Given the description of an element on the screen output the (x, y) to click on. 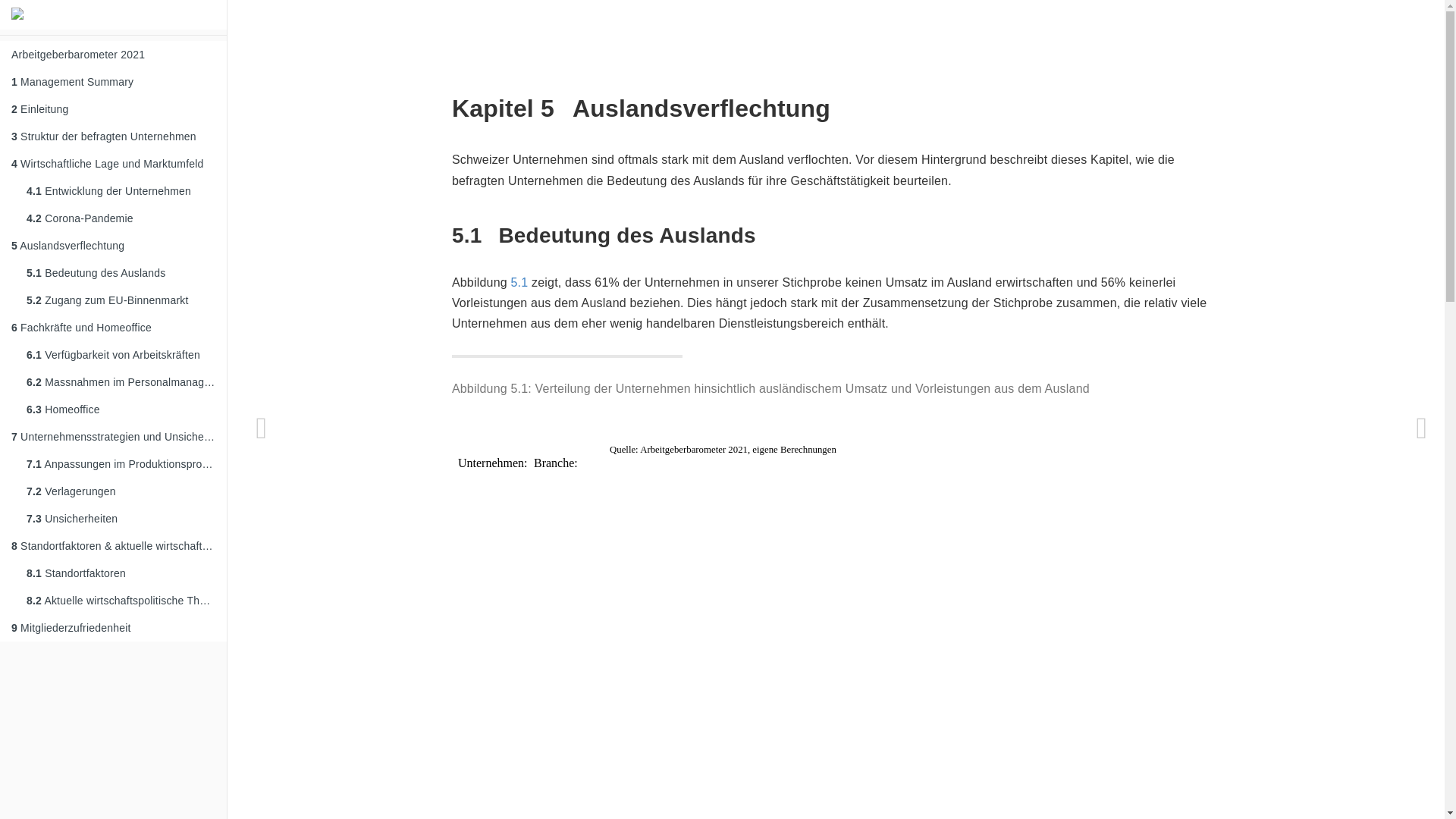
5.1 Element type: text (519, 282)
8.2 Aktuelle wirtschaftspolitische Themen Element type: text (120, 600)
1 Management Summary Element type: text (113, 81)
5.2 Zugang zum EU-Binnenmarkt Element type: text (120, 299)
4.2 Corona-Pandemie Element type: text (120, 218)
8.1 Standortfaktoren Element type: text (120, 572)
7.3 Unsicherheiten Element type: text (120, 518)
4.1 Entwicklung der Unternehmen Element type: text (120, 190)
2 Einleitung Element type: text (113, 108)
7.2 Verlagerungen Element type: text (120, 491)
5.1 Bedeutung des Auslands Element type: text (120, 272)
6.3 Homeoffice Element type: text (120, 409)
6.2 Massnahmen im Personalmanagement Element type: text (120, 381)
